Given the description of an element on the screen output the (x, y) to click on. 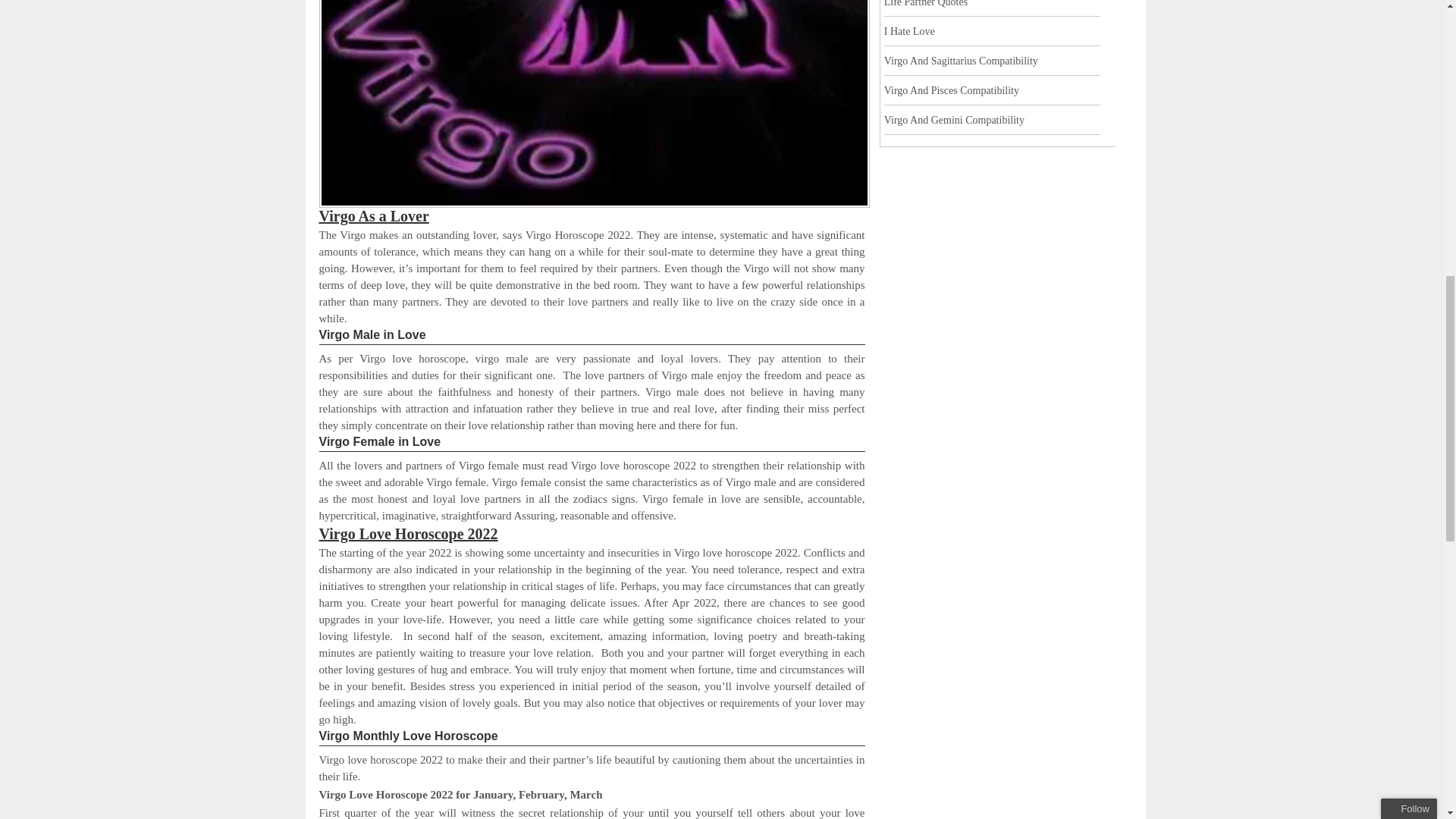
Sign me up! (1349, 139)
Enter email address (1348, 110)
